Given the description of an element on the screen output the (x, y) to click on. 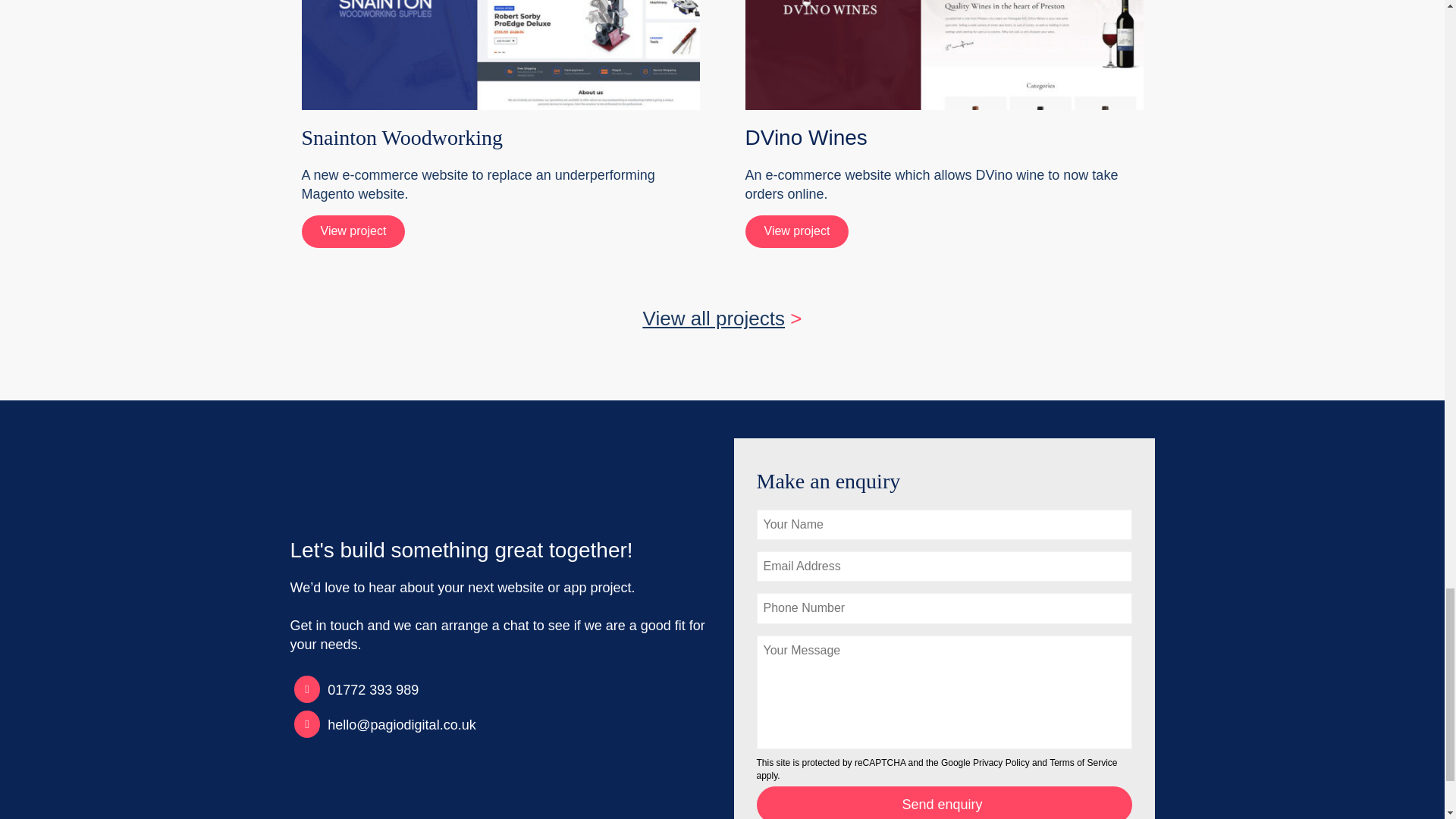
Privacy Policy (1000, 762)
Snainton Woodworking (402, 137)
DVino-OG-1-600x315.jpg (943, 55)
View project (353, 231)
View project (796, 231)
View all projects (713, 318)
Send enquiry  (944, 802)
View project (353, 231)
DVino Wines (805, 137)
Send enquiry  (944, 802)
Terms of Service (1082, 762)
View project (796, 231)
